Given the description of an element on the screen output the (x, y) to click on. 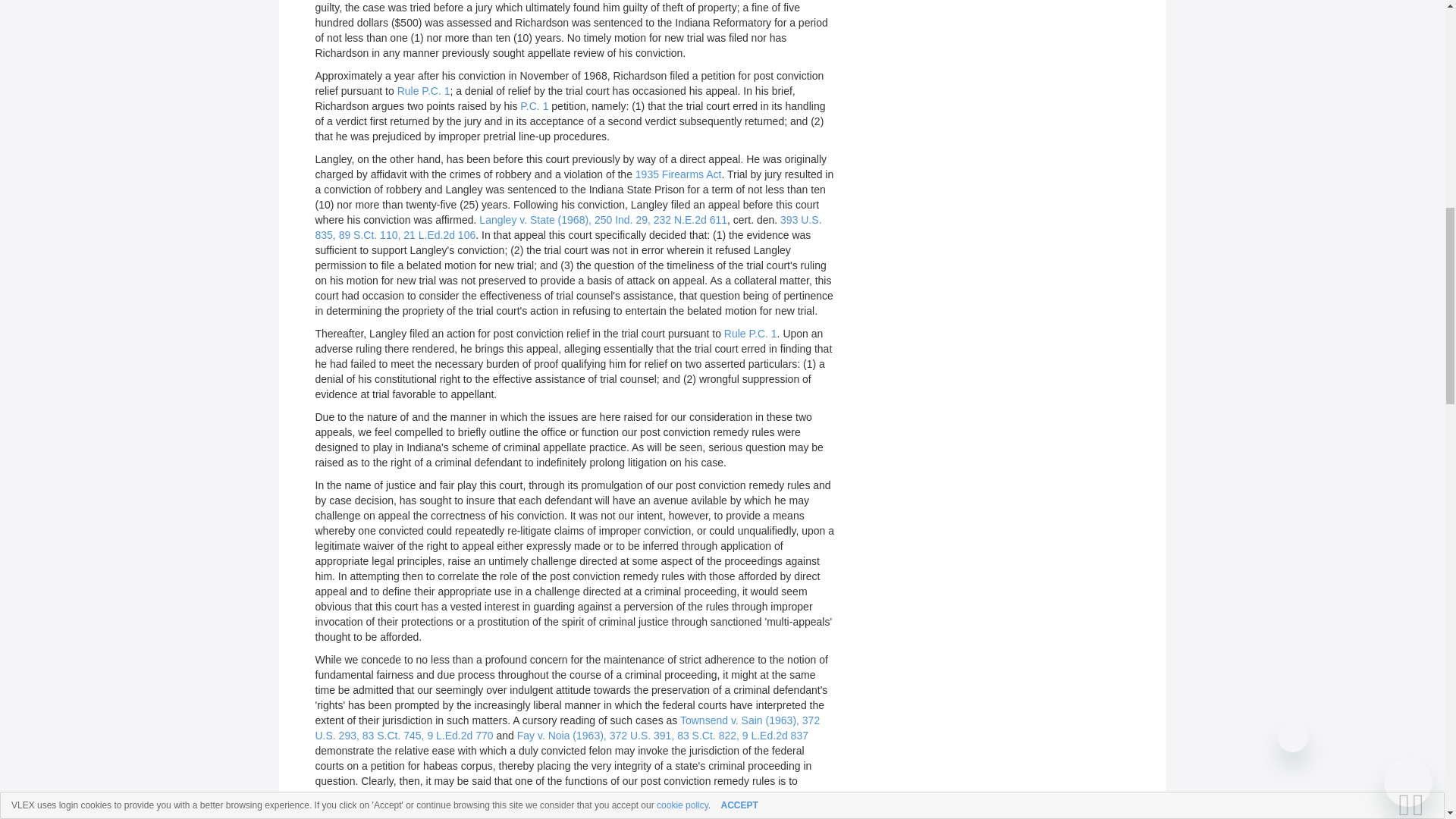
Rule P.C. 1 (750, 333)
P.C. 1 (533, 105)
Rule P.C. 1 (423, 91)
1935 Firearms Act (678, 174)
393 U.S. 835, 89 S.Ct. 110, 21 L.Ed.2d 106 (568, 226)
